Given the description of an element on the screen output the (x, y) to click on. 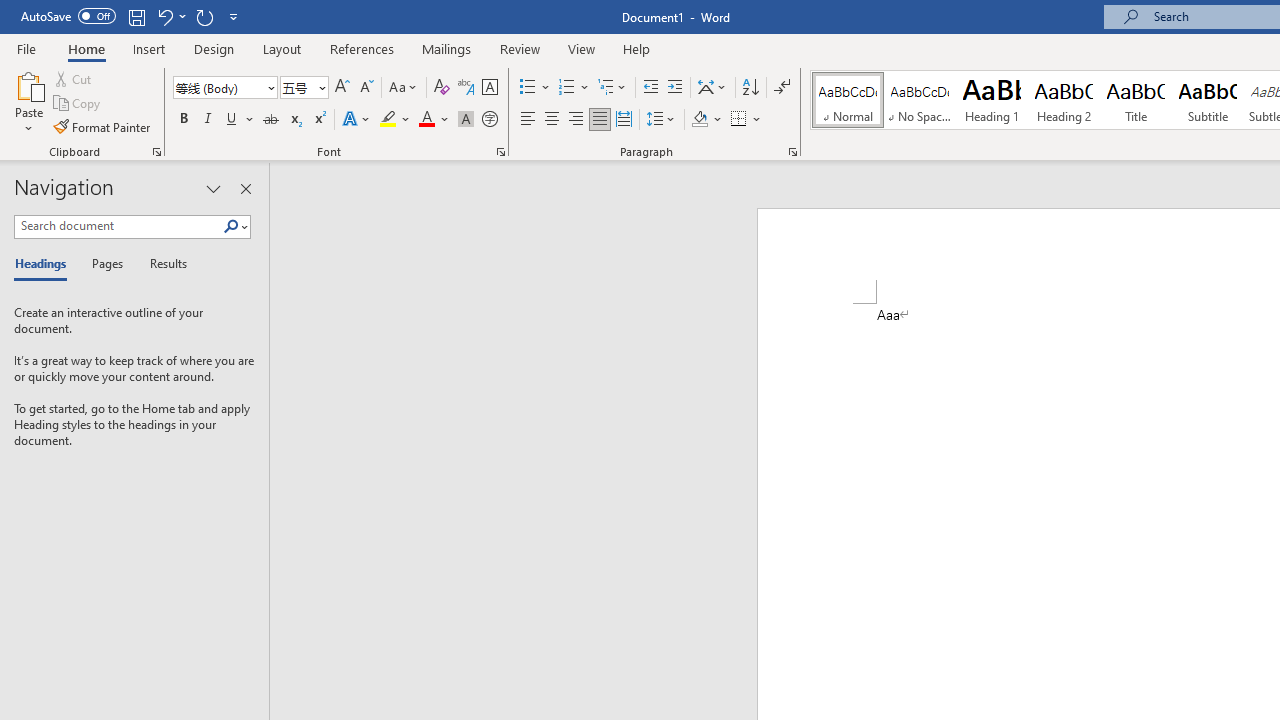
Strikethrough (270, 119)
Align Right (575, 119)
Insert (149, 48)
Font Size (304, 87)
Underline (232, 119)
Repeat Typing (204, 15)
Superscript (319, 119)
Numbering (573, 87)
Asian Layout (712, 87)
Distributed (623, 119)
Paragraph... (792, 151)
View (582, 48)
Pages (105, 264)
